Given the description of an element on the screen output the (x, y) to click on. 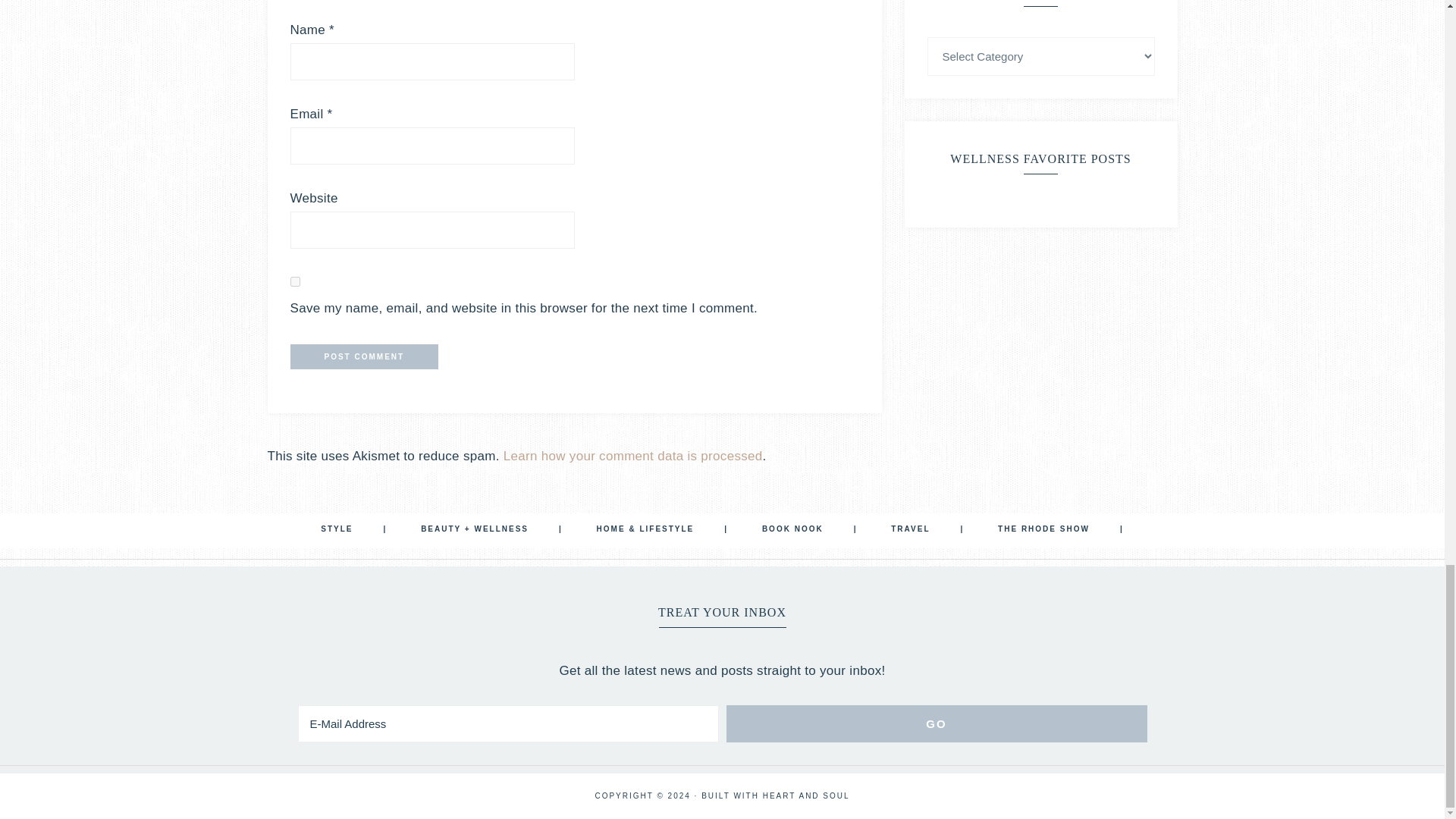
Post Comment (363, 356)
yes (294, 281)
Learn how your comment data is processed (632, 455)
Post Comment (363, 356)
Go (936, 723)
